Given the description of an element on the screen output the (x, y) to click on. 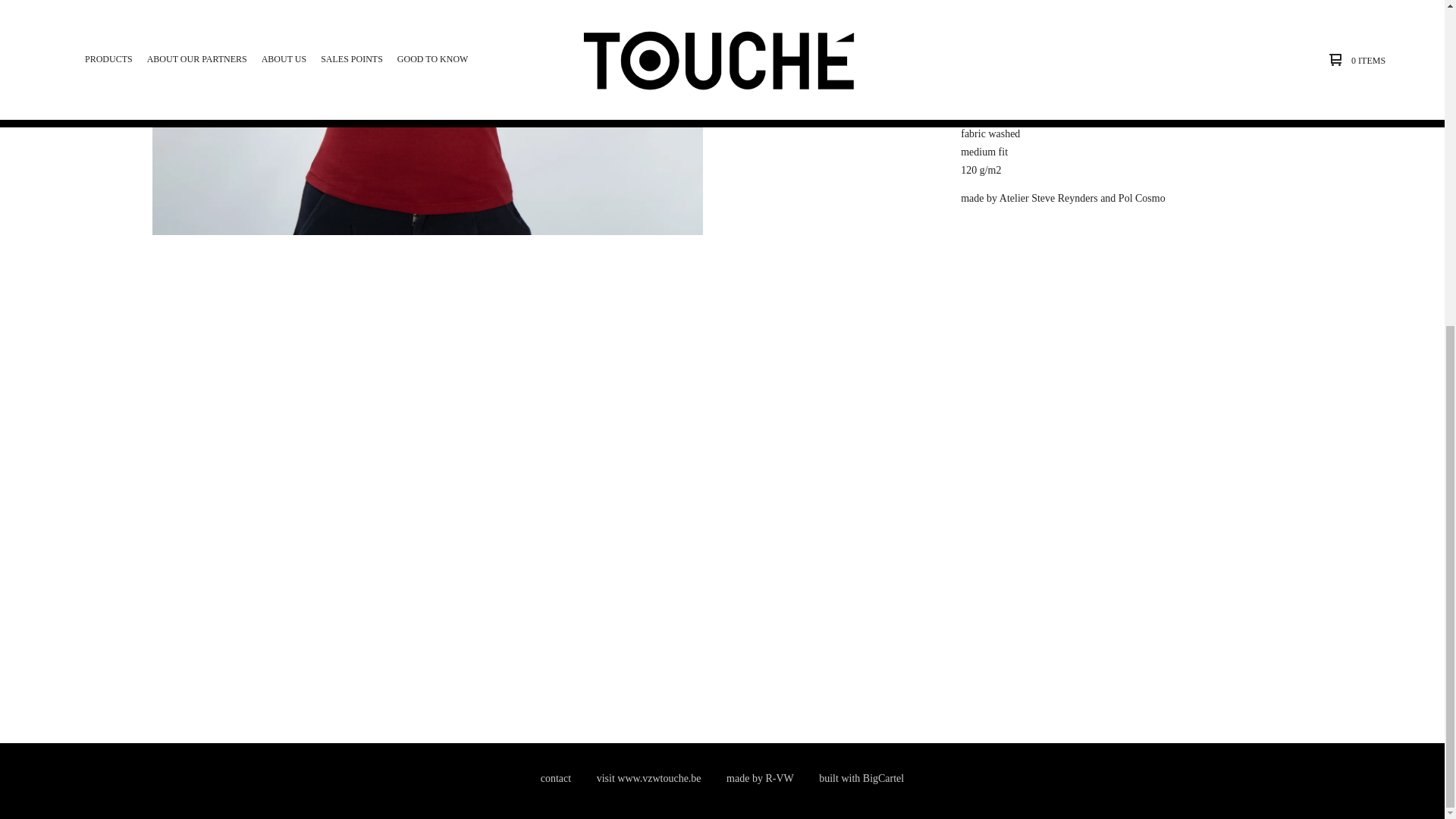
made by R-VW (759, 779)
visit www.vzwtouche.be (648, 779)
Image of T-SHIRT WOMAN short sleeve SLOGAN burgundy (812, 215)
Image of T-SHIRT WOMAN short sleeve SLOGAN burgundy (812, 68)
contact (555, 779)
built with BigCartel (861, 779)
Image of T-SHIRT WOMAN short sleeve SLOGAN burgundy (812, 369)
